Given the description of an element on the screen output the (x, y) to click on. 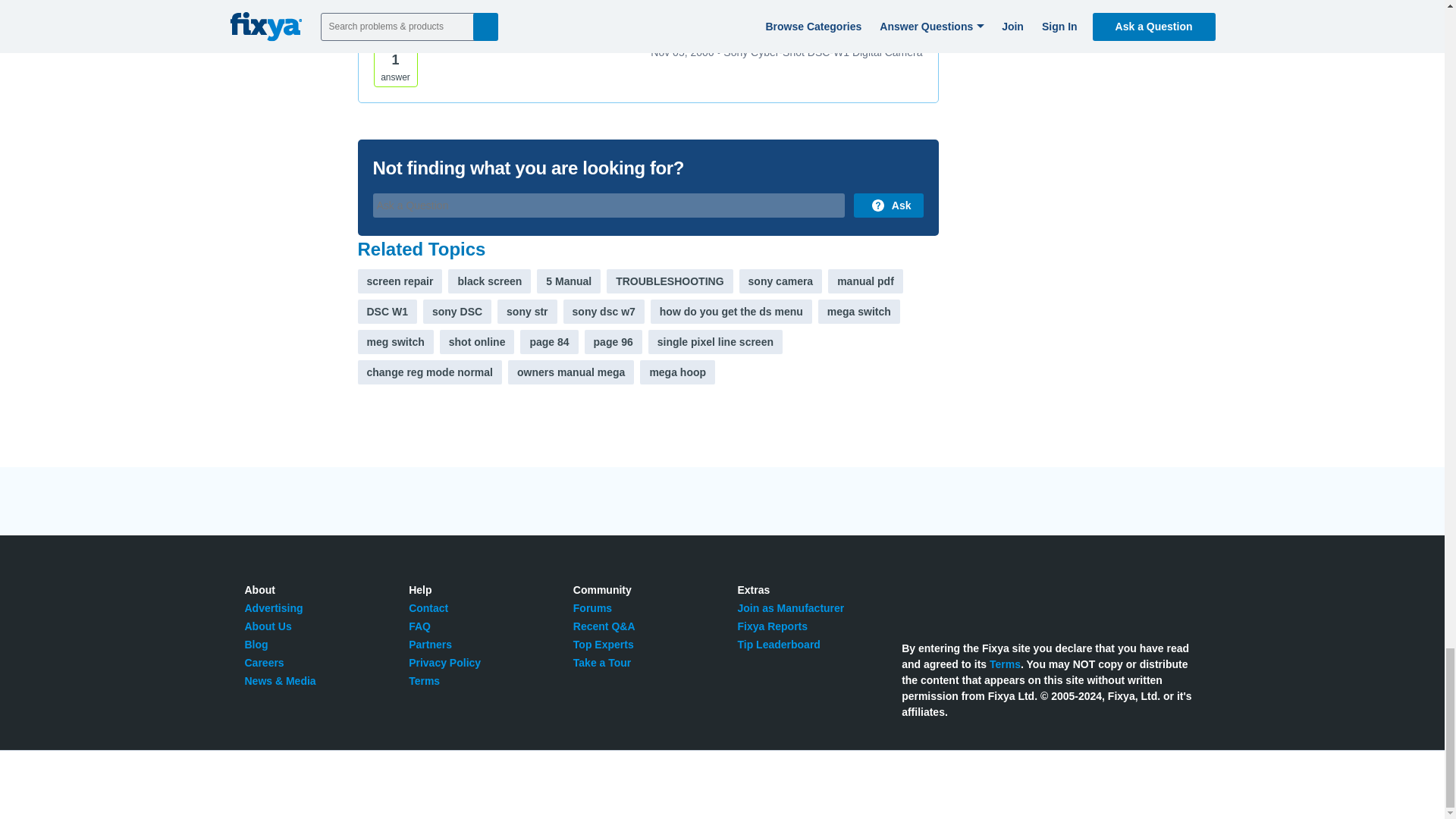
Ask (888, 205)
